Given the description of an element on the screen output the (x, y) to click on. 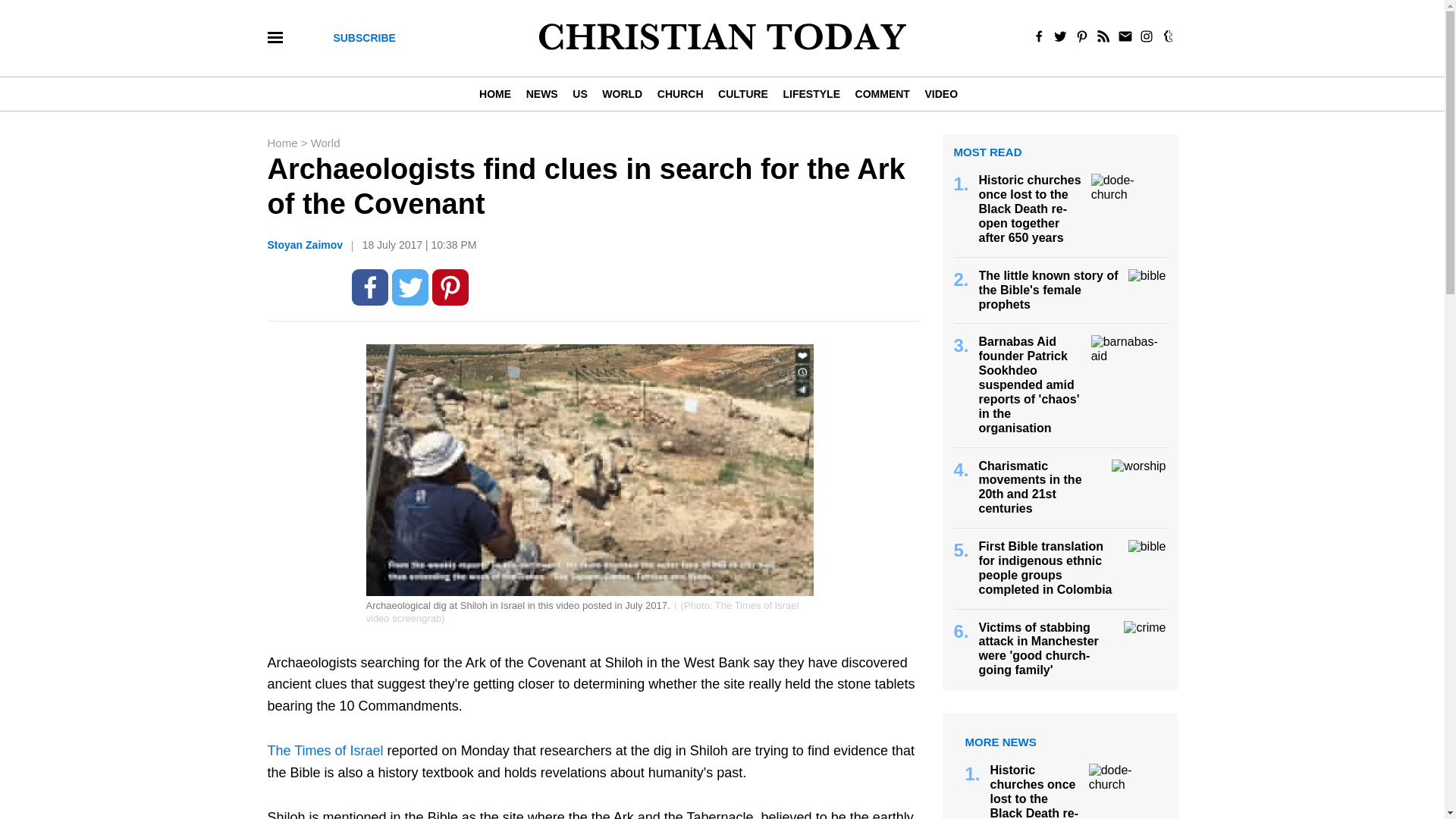
CULTURE (742, 93)
CHURCH (679, 93)
WORLD (622, 93)
COMMENT (882, 93)
LIFESTYLE (811, 93)
HOME (498, 93)
SUBSCRIBE (363, 37)
Home (282, 142)
NEWS (542, 93)
